Given the description of an element on the screen output the (x, y) to click on. 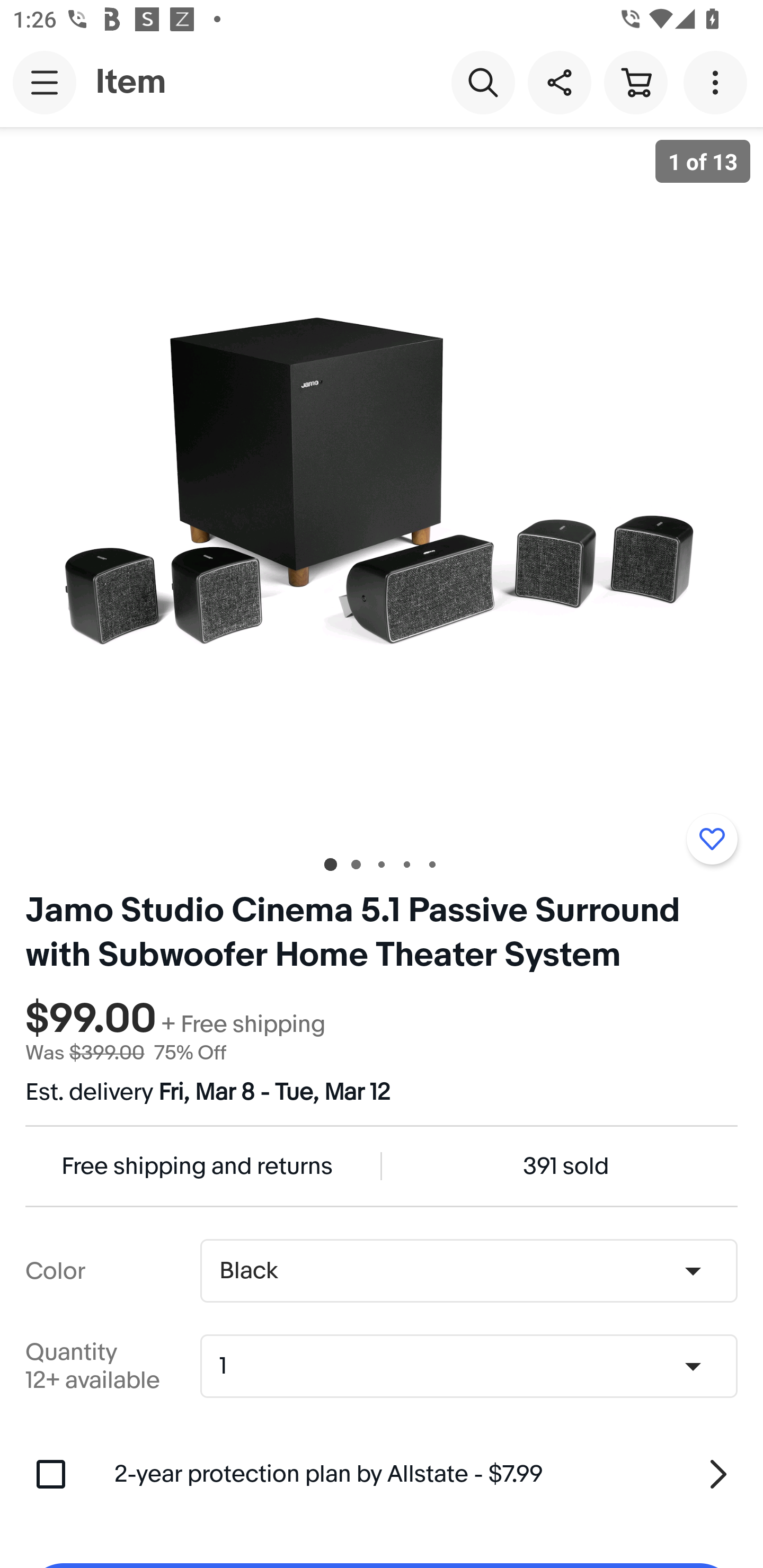
Main navigation, open (44, 82)
Search (482, 81)
Share this item (559, 81)
Cart button shopping cart (635, 81)
More options (718, 81)
Item image 1 of 13 (381, 482)
Add to watchlist (711, 838)
Color,Black Black (468, 1270)
Quantity,1,12+ available 1 (474, 1365)
2-year protection plan by Allstate - $7.99 (425, 1473)
